Given the description of an element on the screen output the (x, y) to click on. 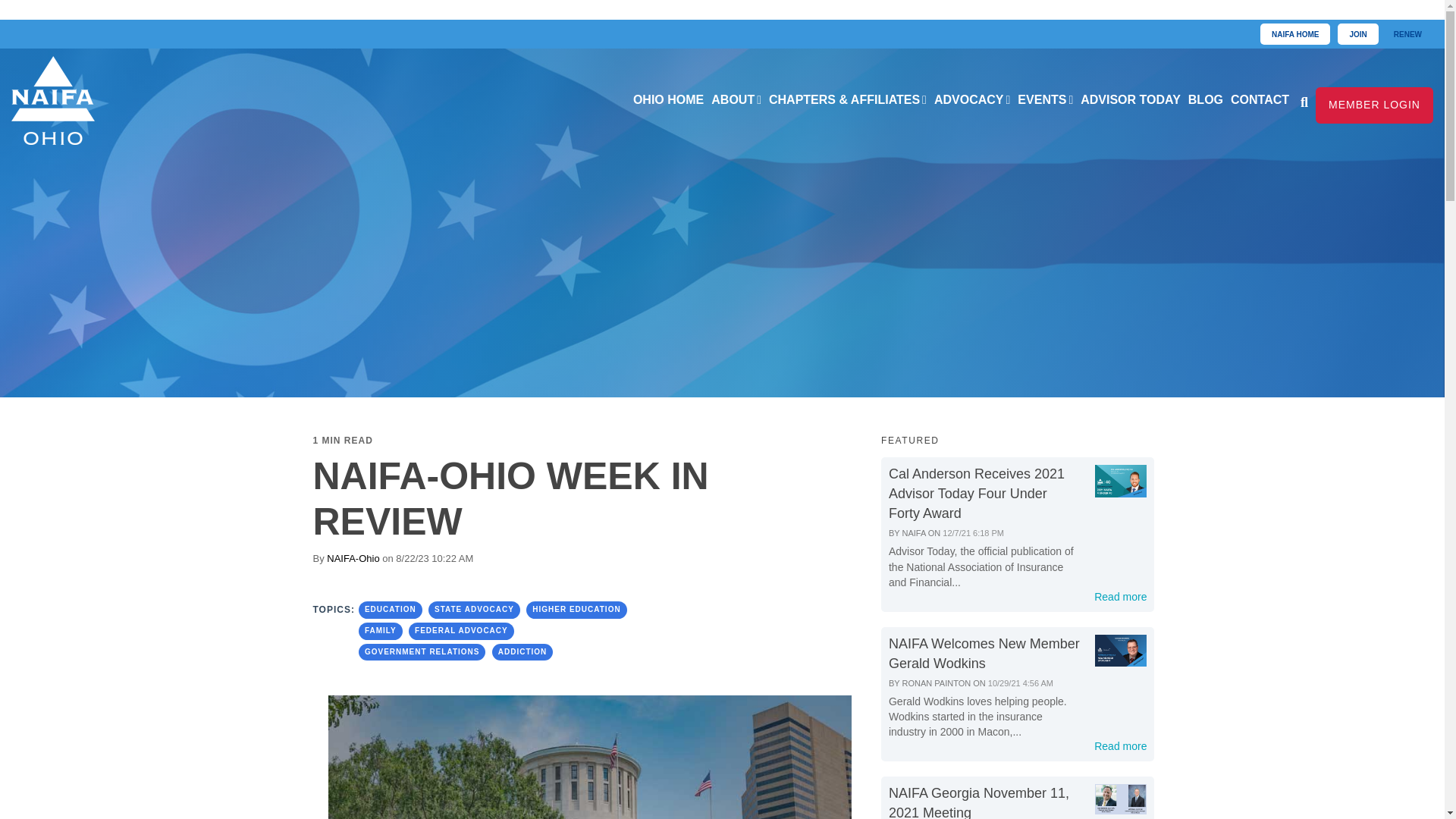
ABOUT (736, 99)
CONTACT (1259, 99)
ADVOCACY (971, 99)
Member Login (1374, 104)
MEMBER LOGIN (1374, 104)
JOIN (1358, 35)
ADVISOR TODAY (1131, 99)
EVENTS (1045, 99)
RENEW (1407, 35)
NAIFA-Ohio (352, 558)
EDUCATION (390, 609)
NAIFA-OHIO WEEK IN REVIEW (510, 498)
NAIFA HOME (1295, 35)
OHIO HOME (667, 99)
BLOG (1206, 99)
